Given the description of an element on the screen output the (x, y) to click on. 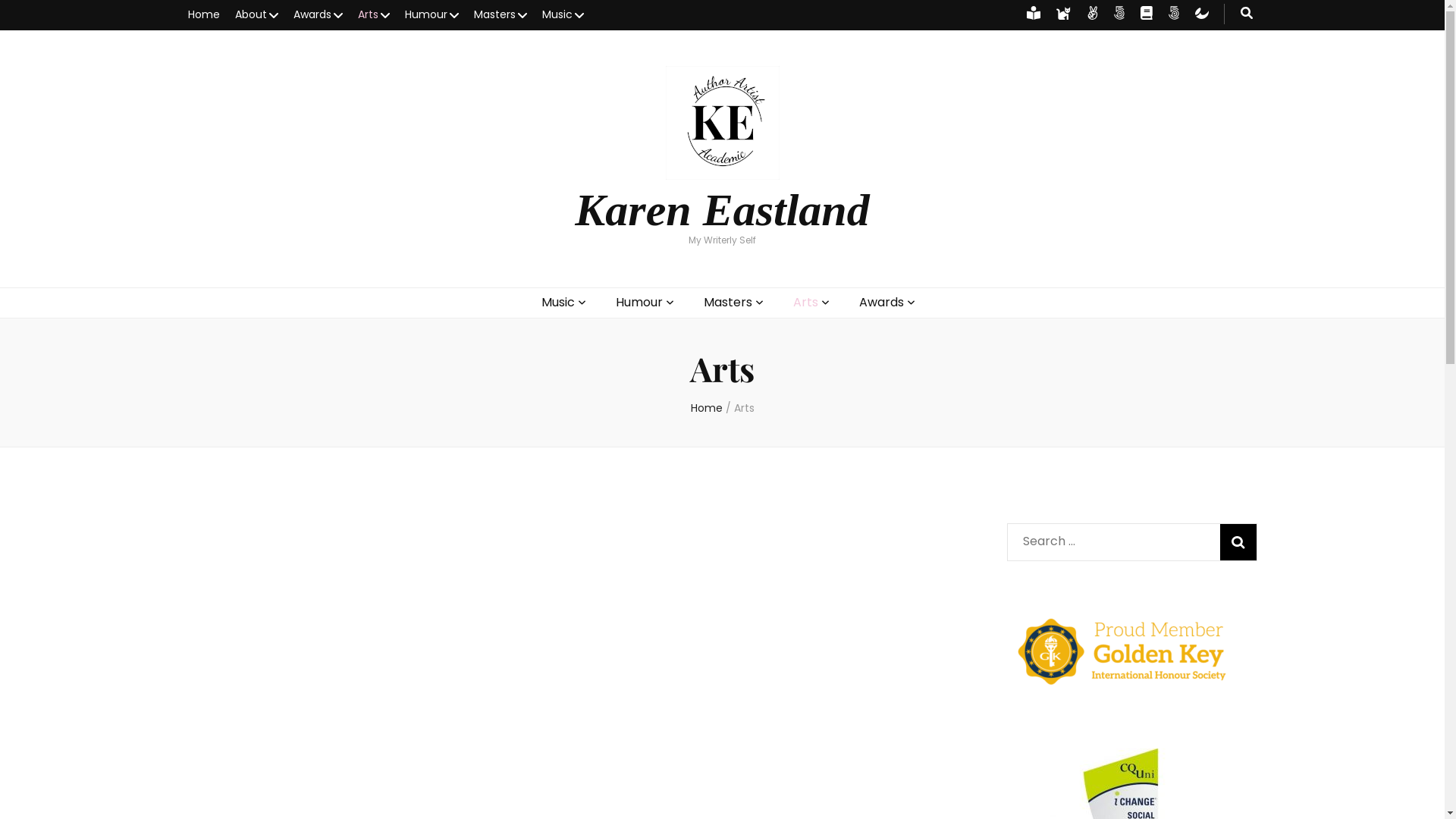
Home Element type: text (705, 407)
Karen Eastland Element type: text (721, 210)
Masters Element type: text (727, 302)
About Element type: text (256, 15)
Music Element type: text (562, 15)
Humour Element type: text (431, 15)
Search Element type: text (1237, 542)
Home Element type: text (203, 15)
Arts Element type: text (744, 407)
Arts Element type: text (805, 302)
Awards Element type: text (317, 15)
Arts Element type: text (373, 15)
Music Element type: text (557, 302)
Humour Element type: text (638, 302)
Masters Element type: text (499, 15)
Awards Element type: text (880, 302)
